Given the description of an element on the screen output the (x, y) to click on. 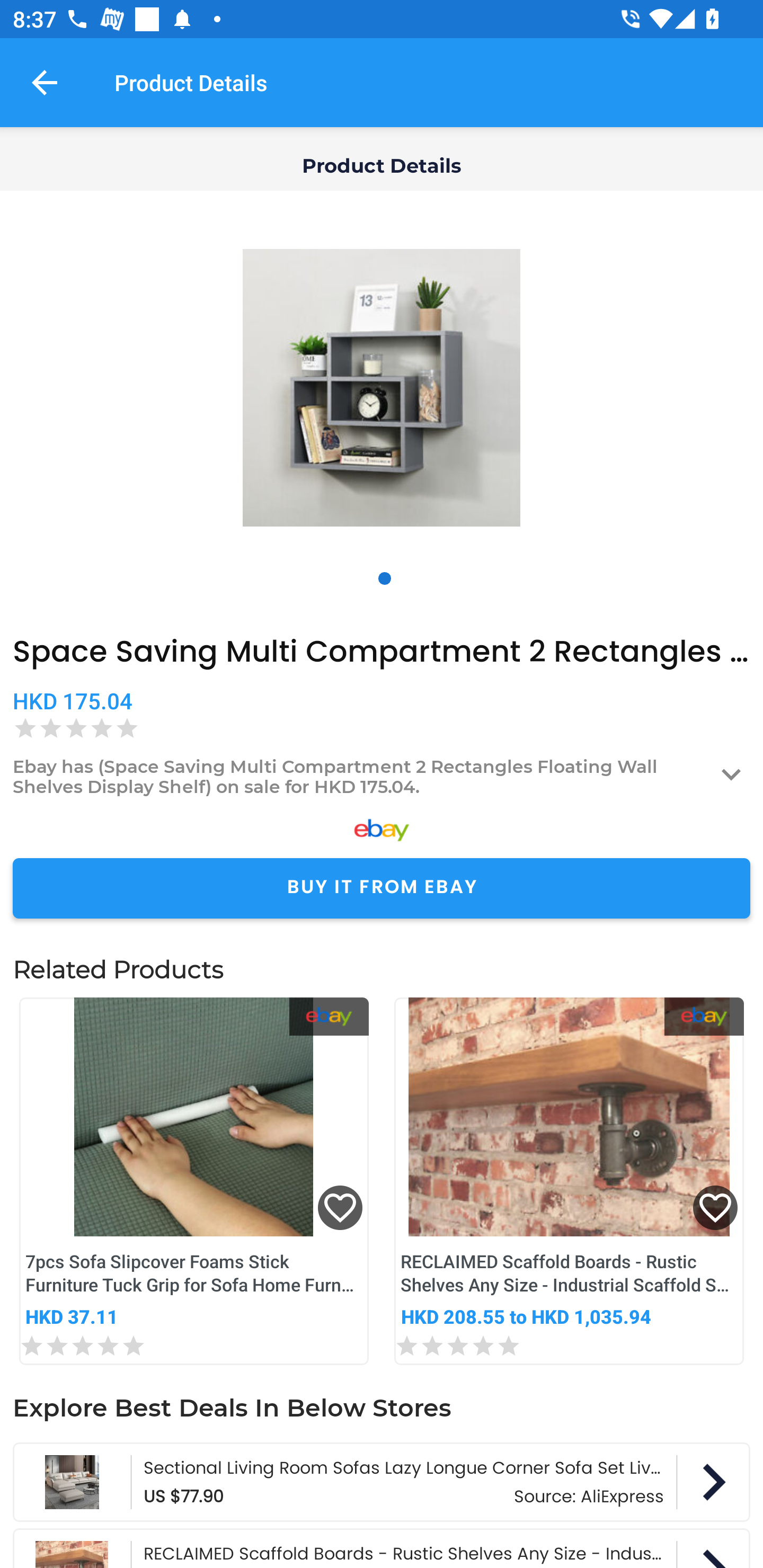
Navigate up (44, 82)
BUY IT FROM EBAY (381, 888)
